Given the description of an element on the screen output the (x, y) to click on. 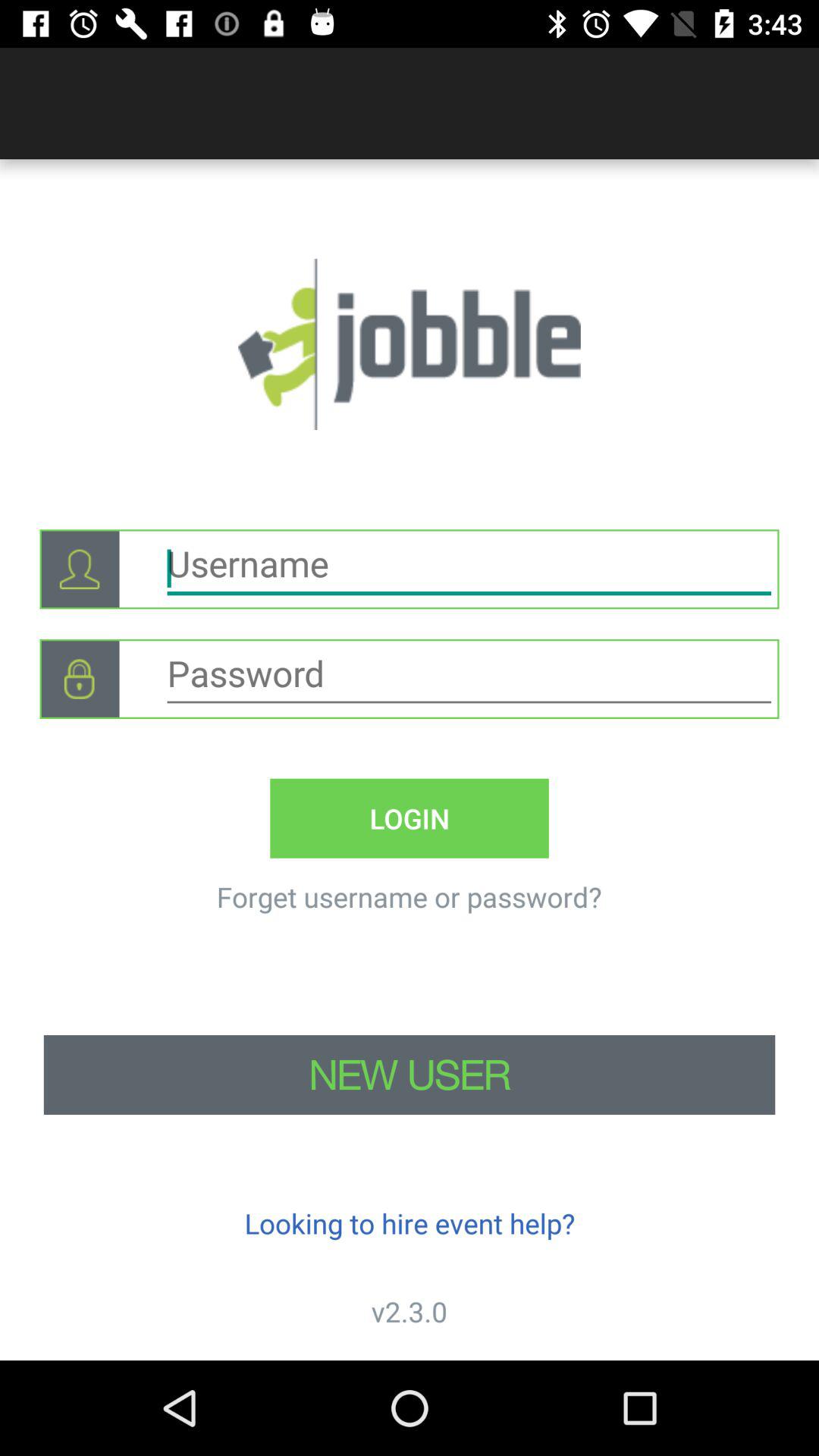
select the icon above new user icon (408, 896)
